Given the description of an element on the screen output the (x, y) to click on. 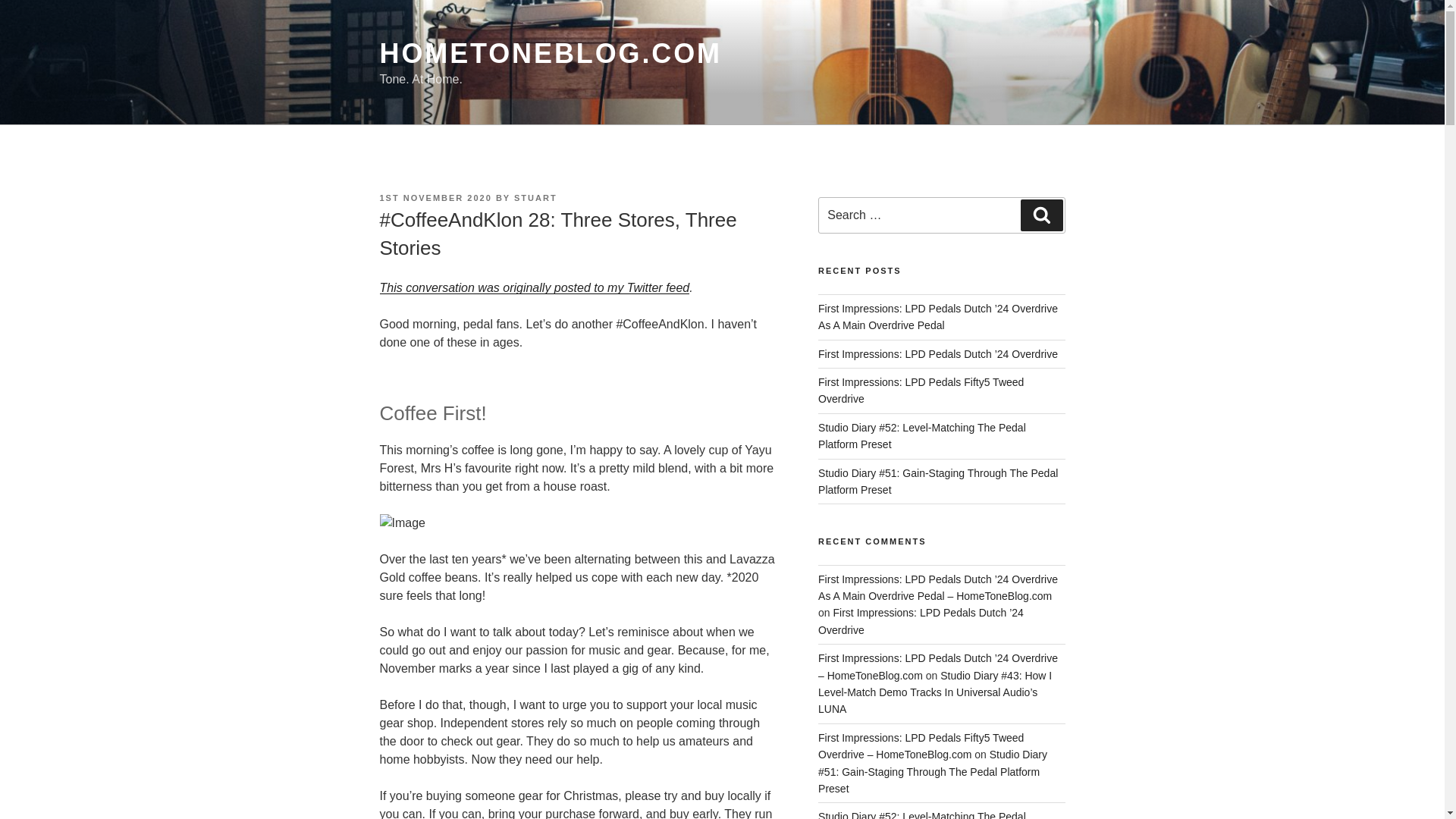
STUART (535, 197)
First Impressions: LPD Pedals Fifty5 Tweed Overdrive (920, 389)
1ST NOVEMBER 2020 (435, 197)
Search (1041, 214)
This conversation was originally posted to my Twitter feed (533, 287)
HOMETONEBLOG.COM (549, 52)
